Given the description of an element on the screen output the (x, y) to click on. 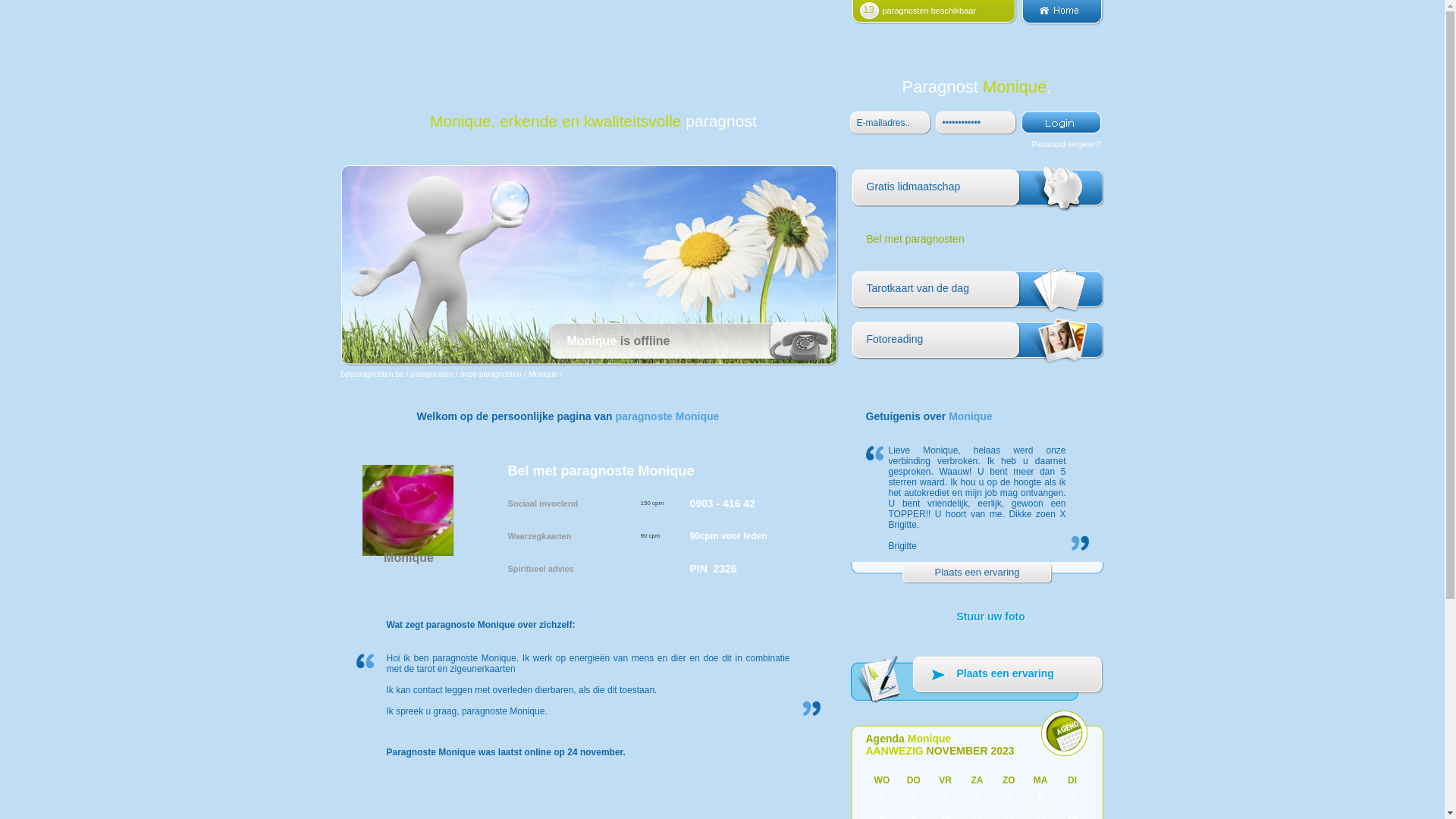
E-mailadres.. Element type: text (892, 122)
/ Element type: text (561, 374)
Gratis lidmaatschap Element type: text (976, 190)
Stuur uw foto Element type: text (976, 624)
/ Element type: text (407, 374)
Monique Element type: text (542, 374)
13 paragnosten beschikbaar - bekijk ze allemaal Element type: hover (933, 20)
Bel met paragnosten Element type: text (976, 241)
belparagnosten.be Element type: text (372, 374)
Paswoord vergeten? Element type: text (1066, 144)
onze-paragnosten Element type: text (490, 374)
/ Element type: text (456, 374)
90cpm voor leden Element type: text (728, 535)
paragnosten Element type: text (432, 374)
0903 - 416 42 Element type: text (722, 503)
Fotoreading Element type: text (976, 342)
/ Element type: text (525, 374)
Spiritueel advies Element type: text (541, 568)
Waarzegkaarten Element type: text (539, 534)
Plaats een ervaring Element type: text (976, 680)
timictdesign Element type: text (978, 122)
Plaats een ervaring Element type: text (976, 572)
Sociaal invoelend Element type: text (543, 503)
Home belparagnosten.be - Bel met paragnosten Element type: hover (1061, 21)
Tarotkaart van de dag Element type: text (976, 291)
